Given the description of an element on the screen output the (x, y) to click on. 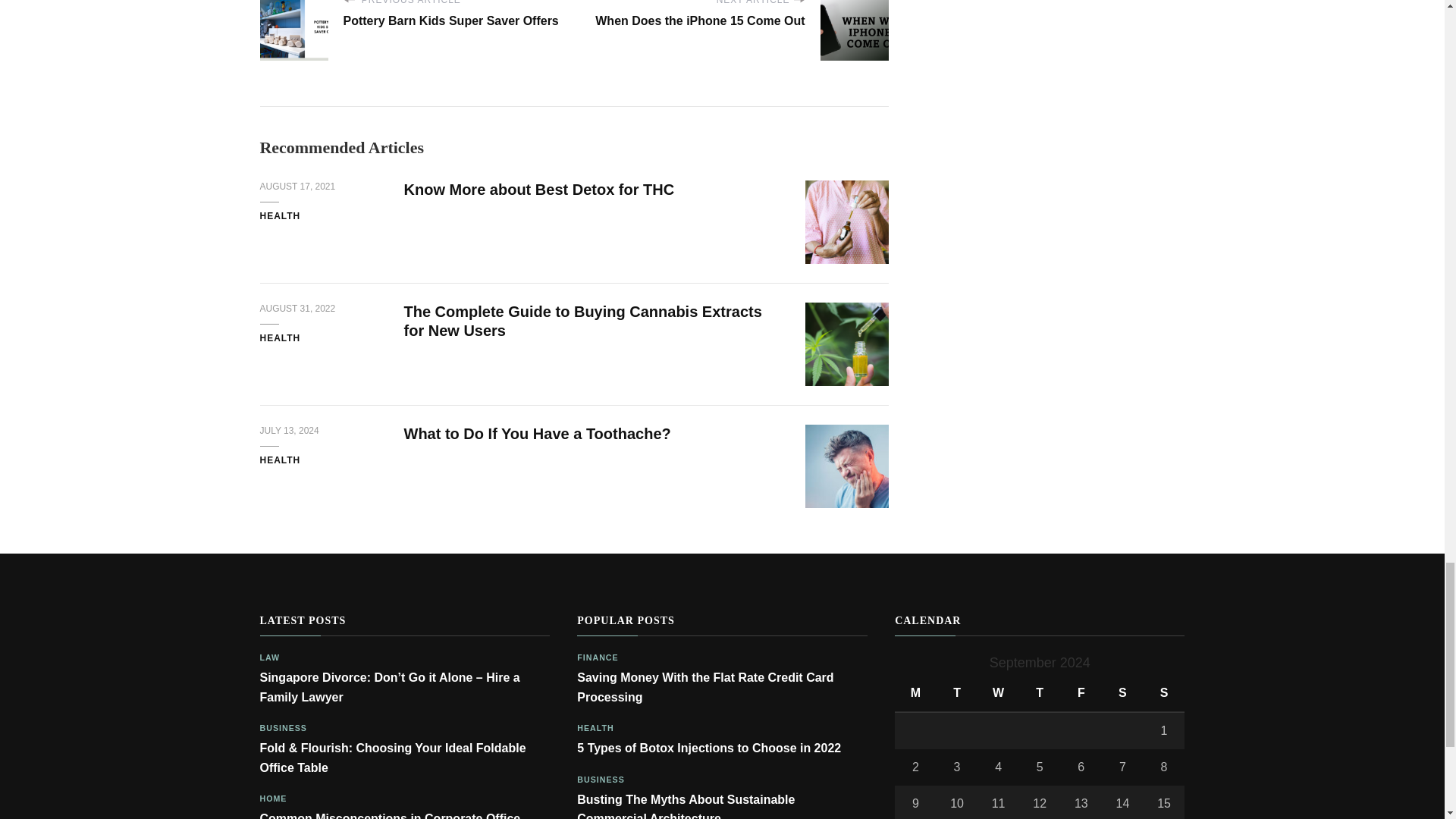
AUGUST 31, 2022 (296, 309)
Friday (1080, 692)
Tuesday (957, 692)
JULY 13, 2024 (288, 431)
Saturday (1122, 692)
AUGUST 17, 2021 (296, 187)
Sunday (1163, 692)
HEALTH (279, 460)
Thursday (1040, 692)
HEALTH (279, 216)
